Given the description of an element on the screen output the (x, y) to click on. 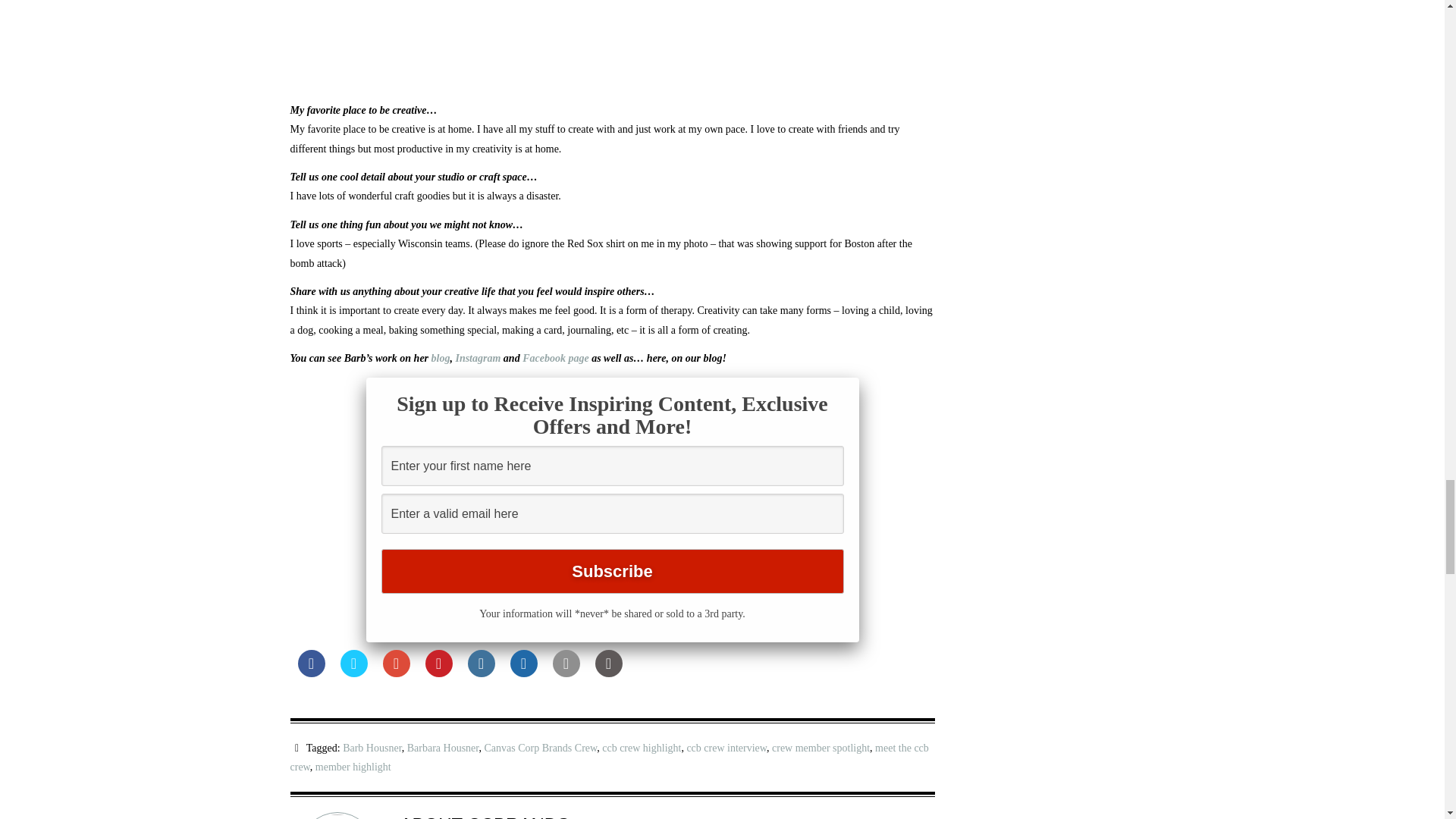
Subscribe (611, 570)
Facebook page (556, 357)
Instagram (477, 357)
blog (439, 357)
Subscribe (611, 570)
Barb Housner (371, 747)
